Given the description of an element on the screen output the (x, y) to click on. 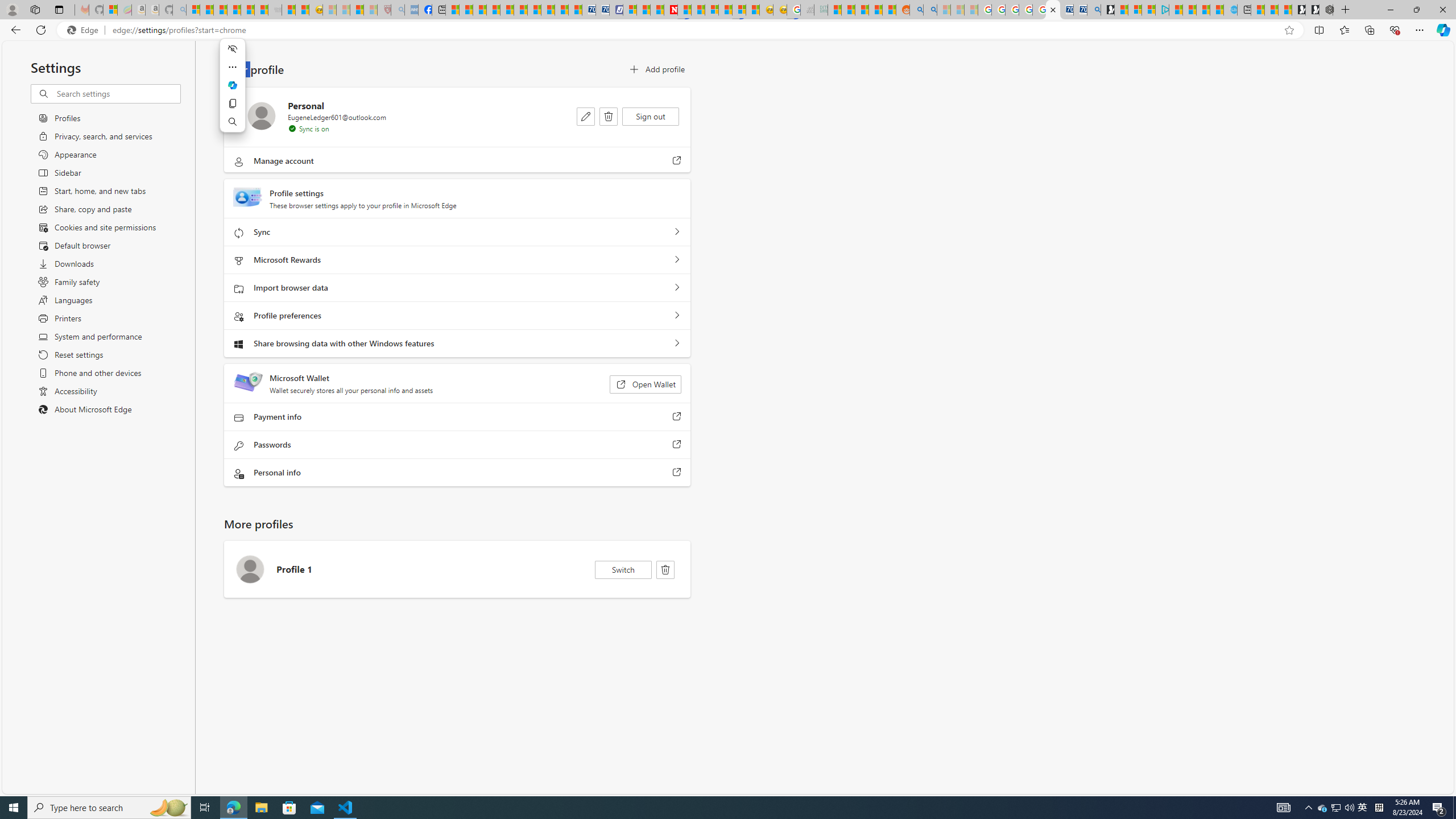
14 Common Myths Debunked By Scientific Facts (697, 9)
Navy Quest (806, 9)
Personal info (676, 472)
Class: c011143 (665, 569)
Combat Siege - Sleeping (274, 9)
